Given the description of an element on the screen output the (x, y) to click on. 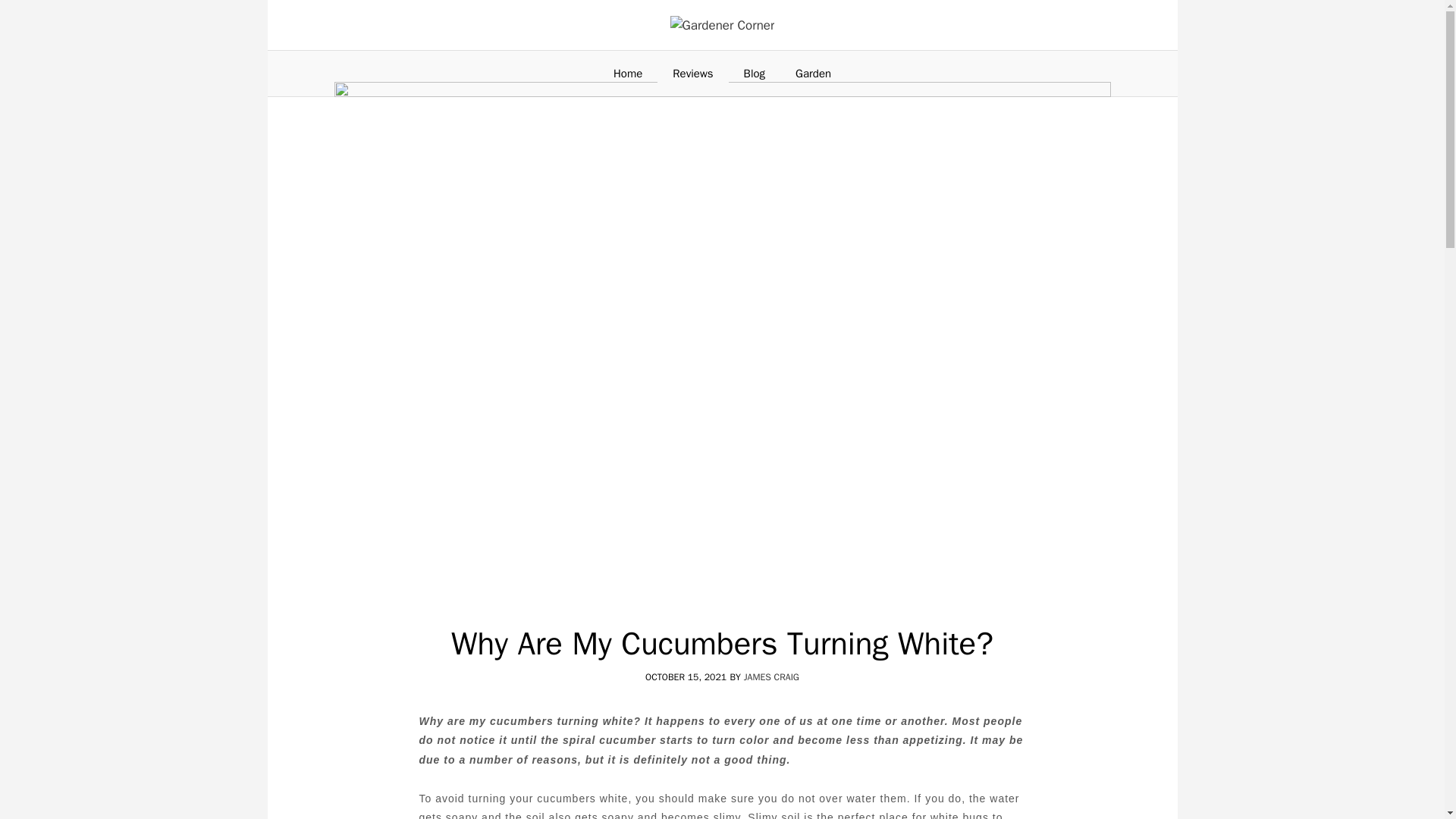
Garden (812, 73)
Gardener Corner (721, 25)
Reviews (693, 73)
Home (628, 73)
Blog (754, 73)
Gardener Corner (721, 24)
View all posts by James Craig (771, 676)
JAMES CRAIG (771, 676)
